Given the description of an element on the screen output the (x, y) to click on. 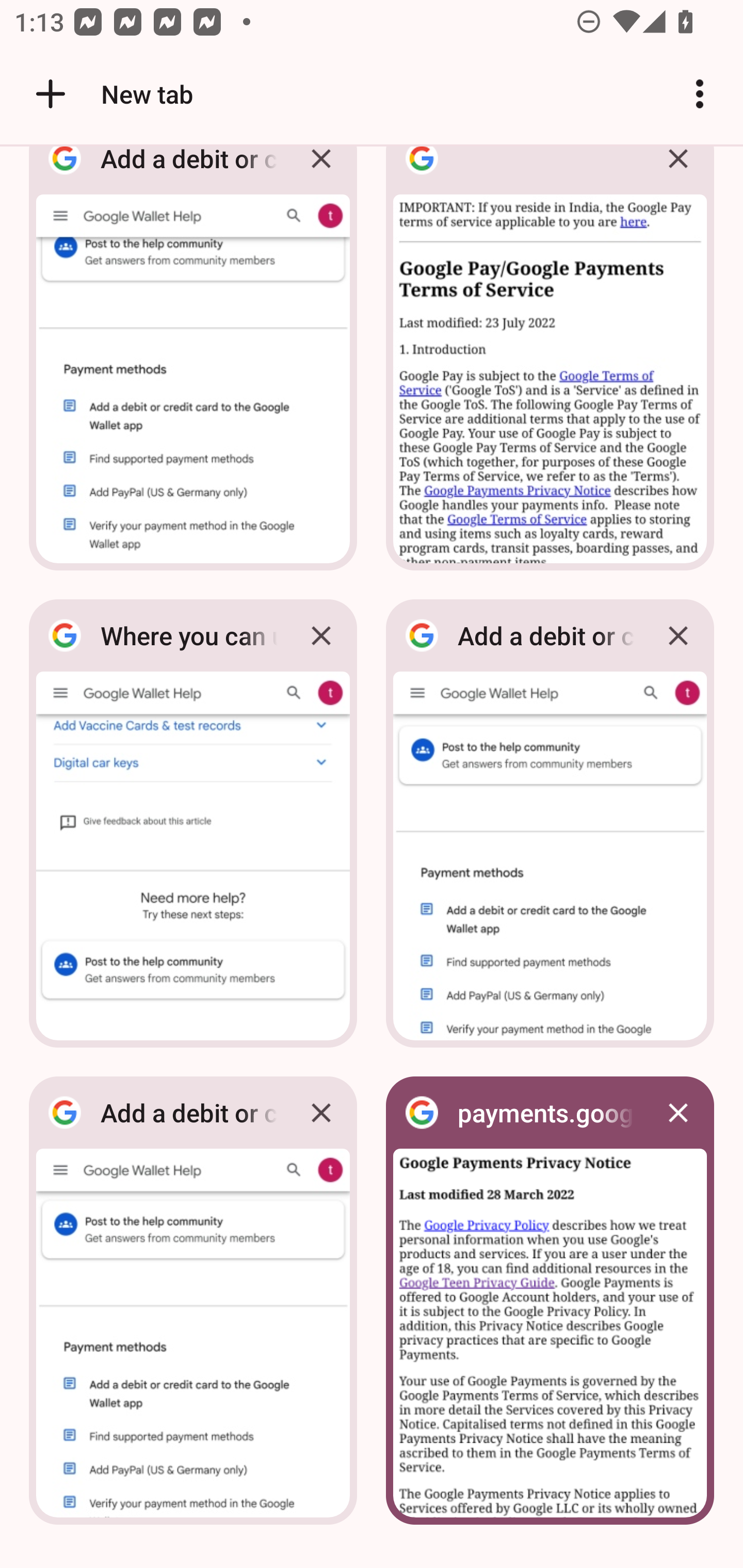
New tab (111, 93)
Customize and control Google Chrome (699, 93)
, tab Close  tab (549, 364)
Close  tab (677, 173)
